Given the description of an element on the screen output the (x, y) to click on. 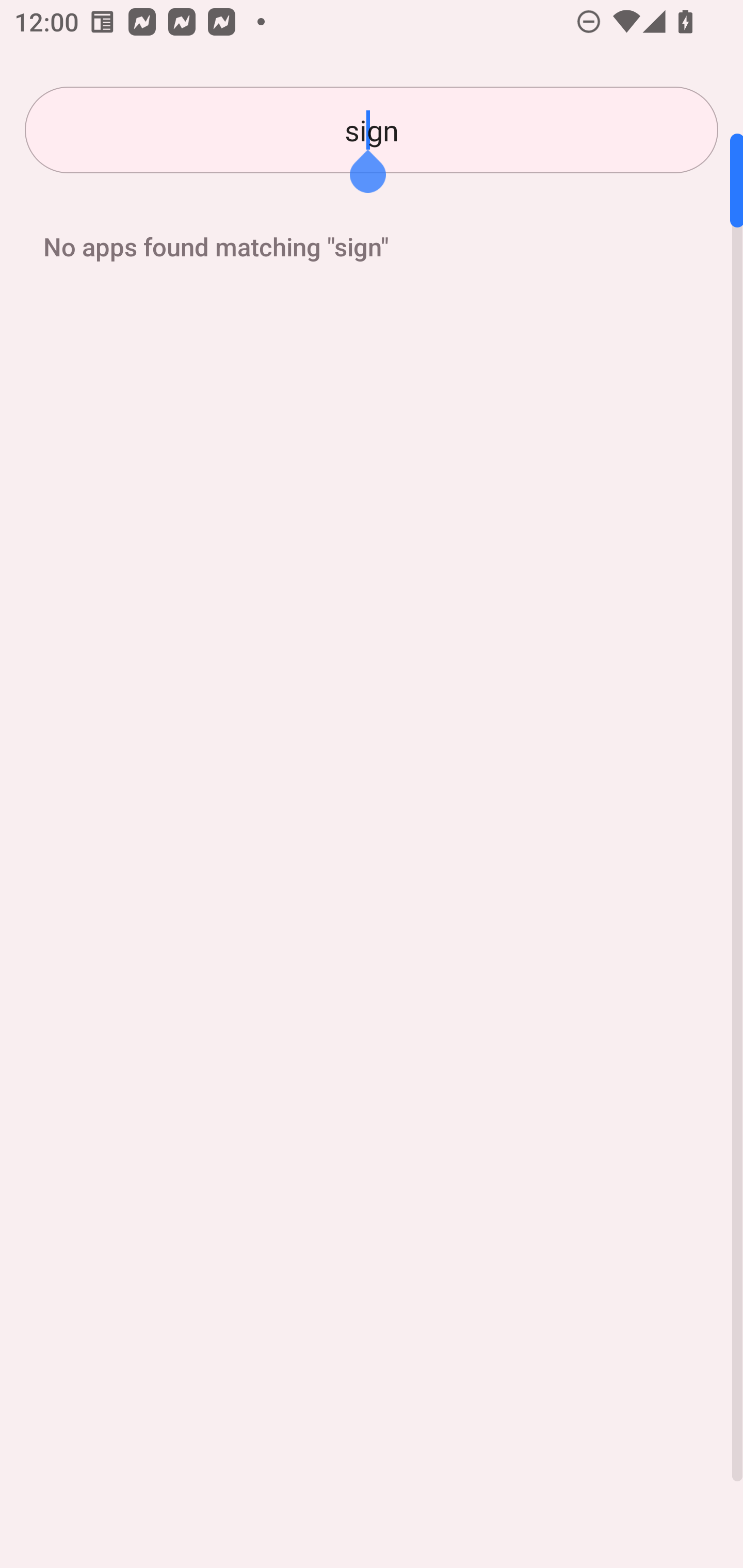
sign (371, 130)
